Given the description of an element on the screen output the (x, y) to click on. 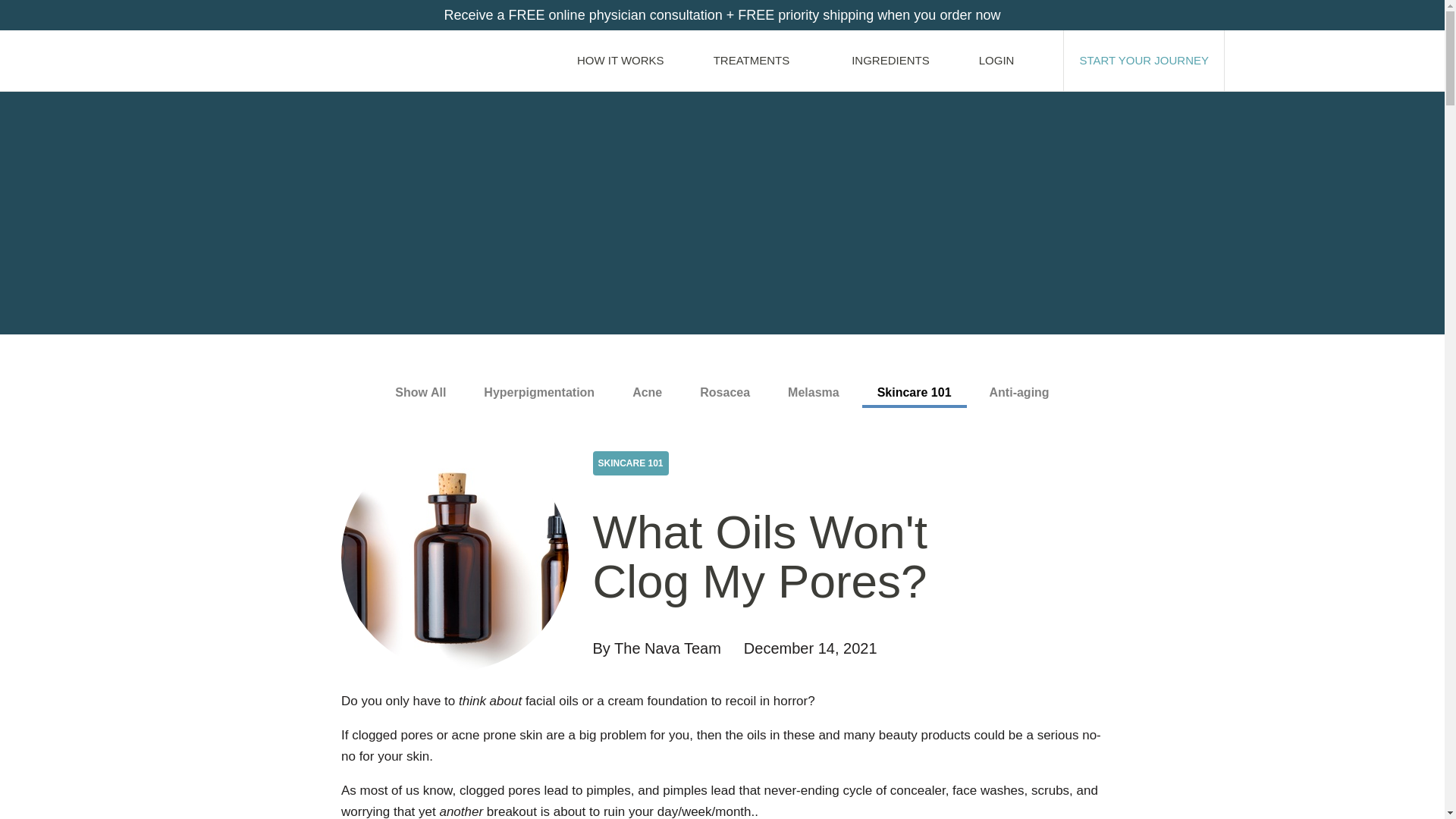
HOW IT WORKS (620, 60)
Acne (647, 392)
TREATMENTS (757, 60)
LOGIN (1002, 60)
Skincare 101 (913, 393)
Hyperpigmentation (539, 392)
Anti-aging (1019, 392)
INGREDIENTS (890, 60)
Show All (420, 392)
Melasma (813, 392)
START YOUR JOURNEY (1143, 60)
Rosacea (724, 392)
